Given the description of an element on the screen output the (x, y) to click on. 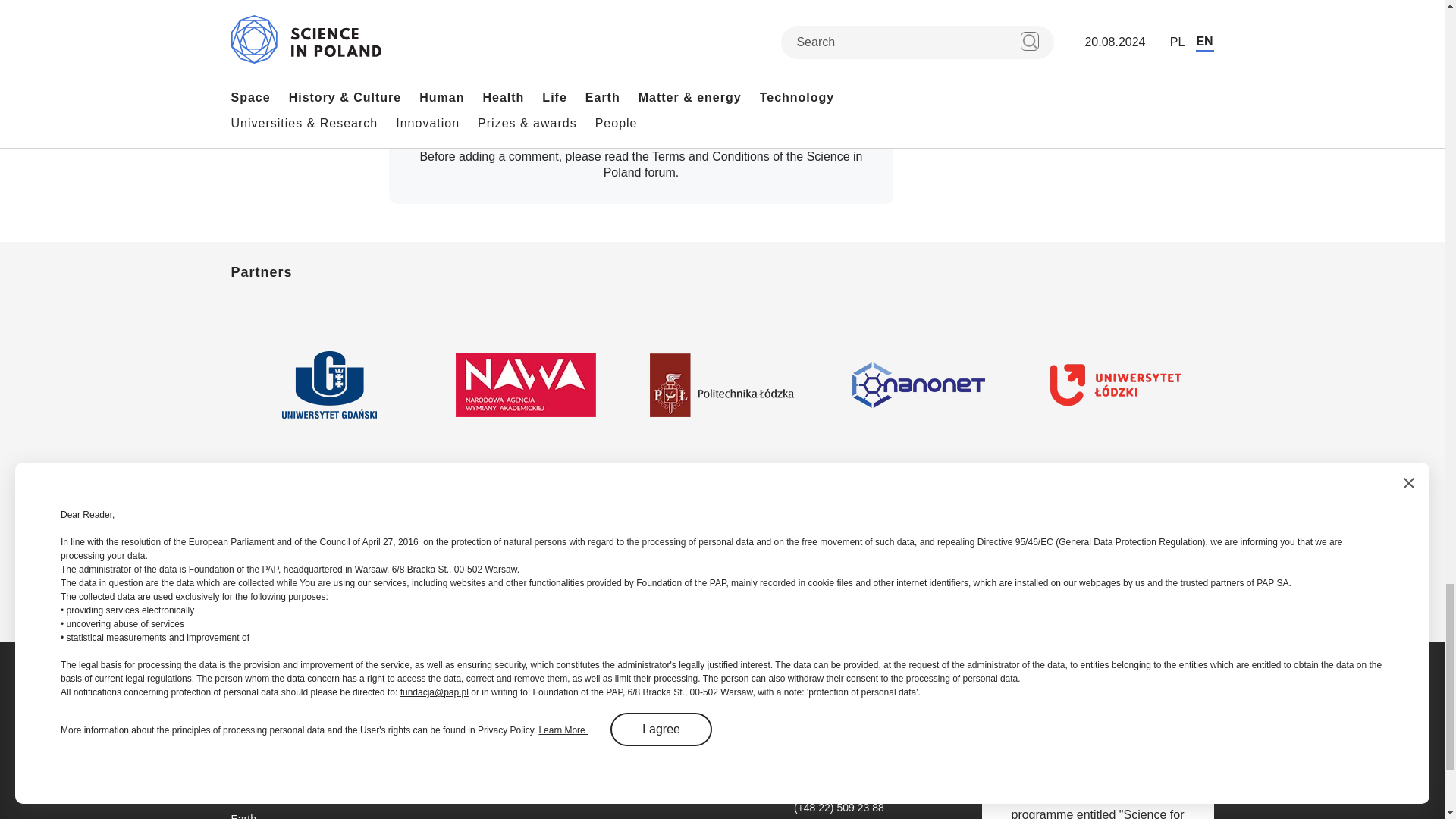
Terms and Conditions (711, 155)
PEOPLE (413, 5)
